Given the description of an element on the screen output the (x, y) to click on. 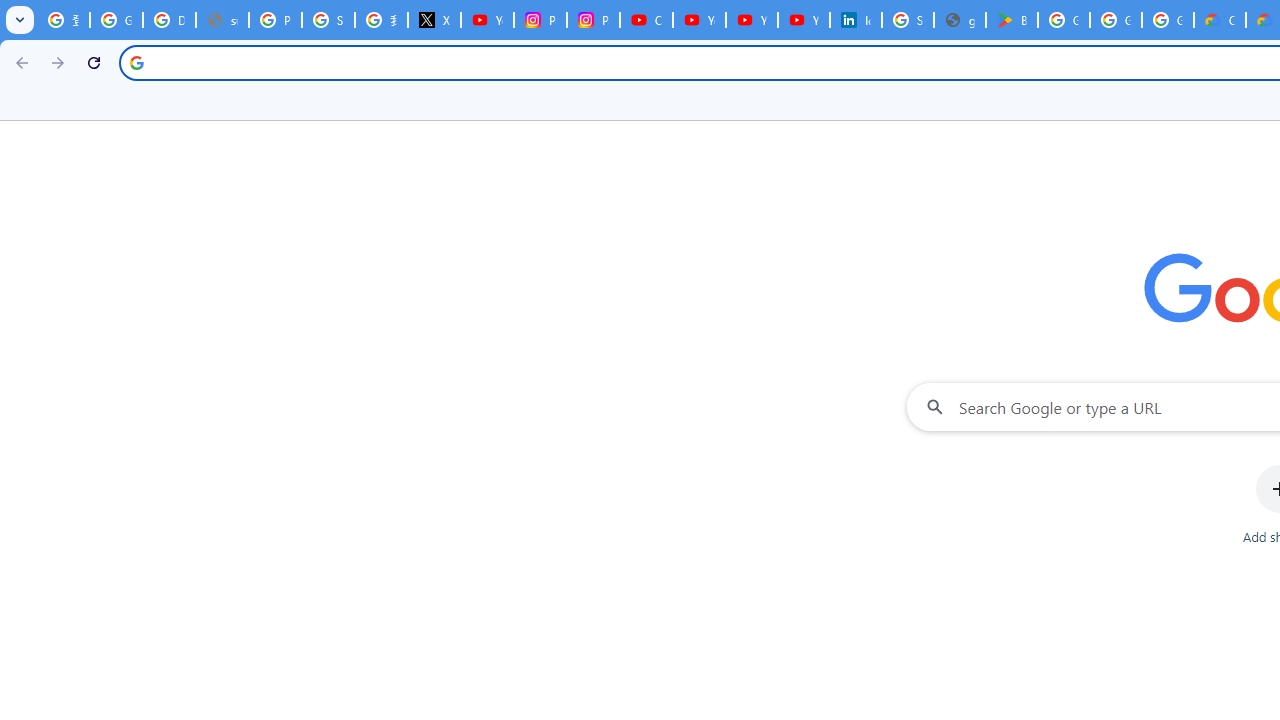
google_privacy_policy_en.pdf (959, 20)
YouTube Culture & Trends - YouTube Top 10, 2021 (803, 20)
Privacy Help Center - Policies Help (275, 20)
Sign in - Google Accounts (907, 20)
Bluey: Let's Play! - Apps on Google Play (1011, 20)
support.google.com - Network error (222, 20)
YouTube Culture & Trends - YouTube Top 10, 2021 (751, 20)
YouTube Content Monetization Policies - How YouTube Works (487, 20)
